Given the description of an element on the screen output the (x, y) to click on. 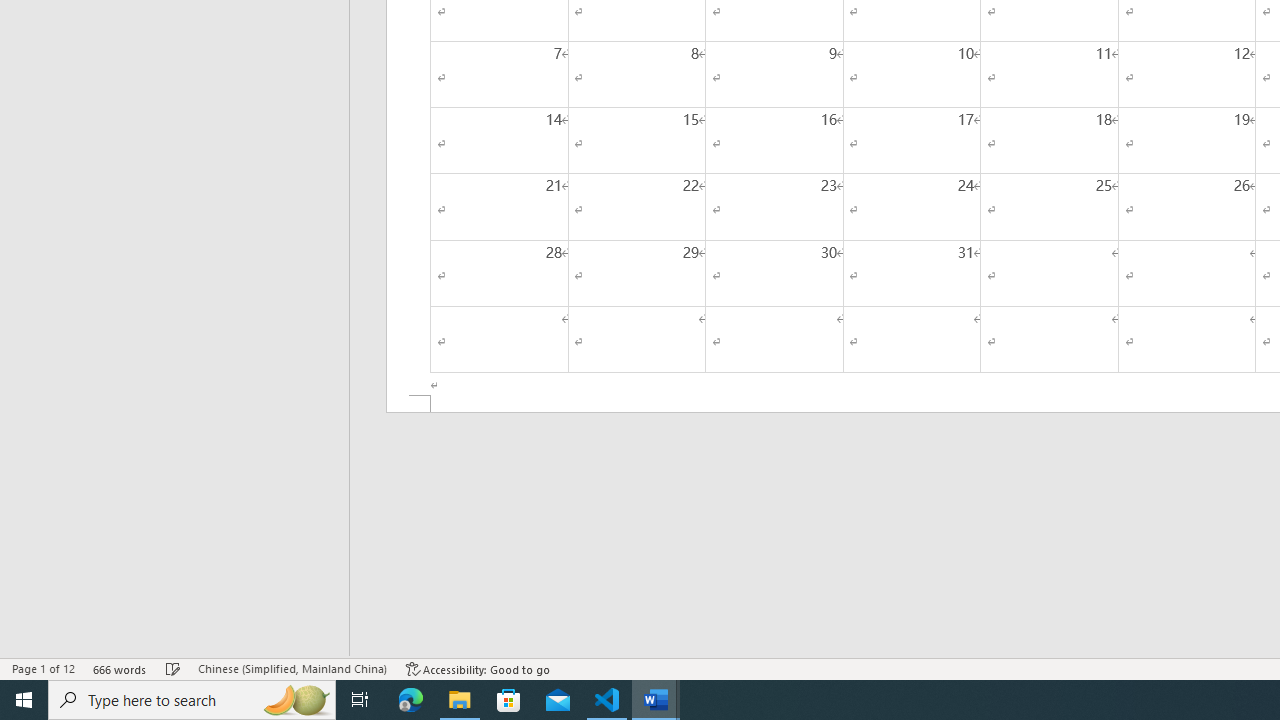
Word - 2 running windows (656, 699)
Page Number Page 1 of 12 (43, 668)
